Given the description of an element on the screen output the (x, y) to click on. 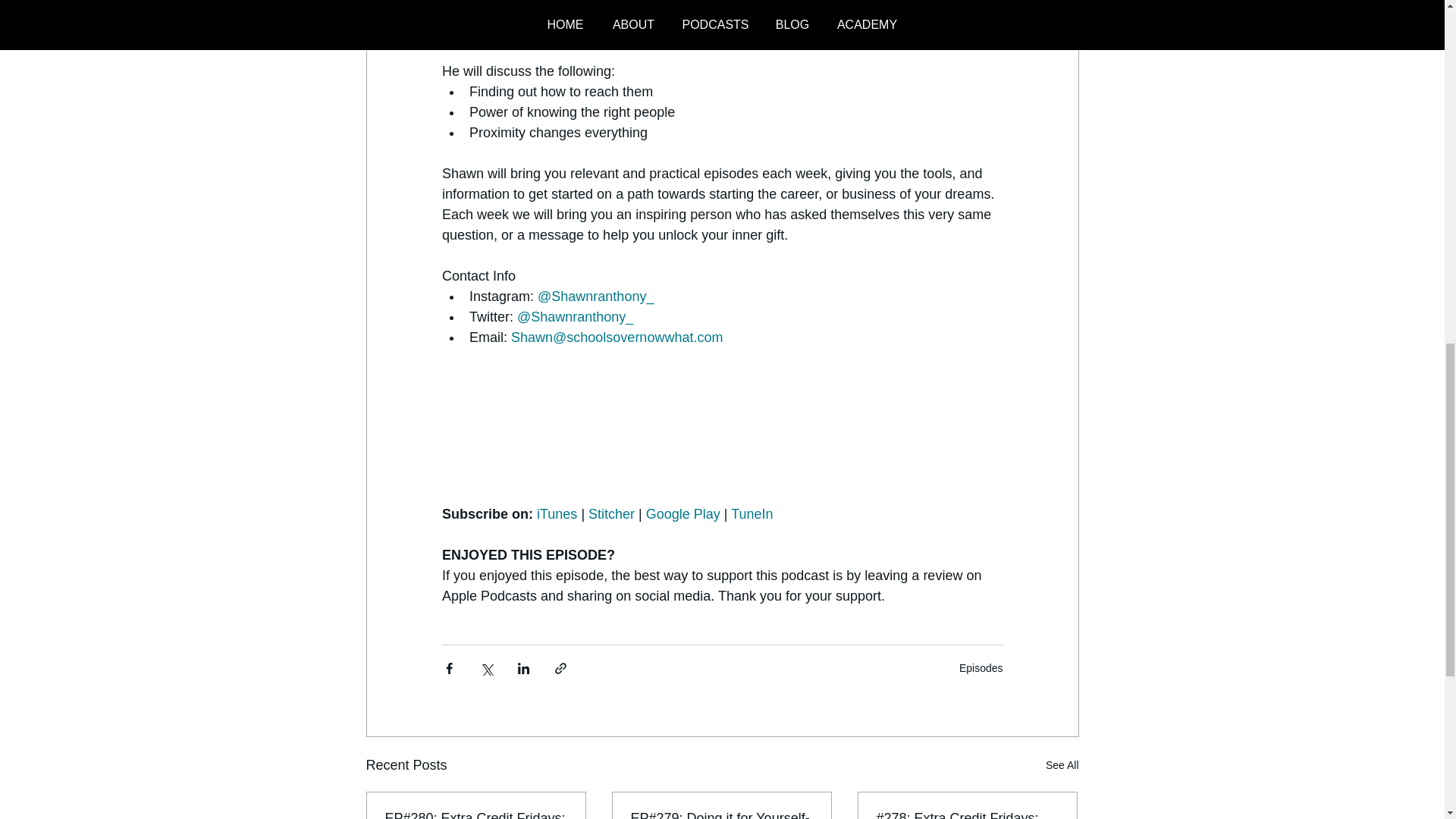
TuneIn (751, 513)
See All (1061, 765)
Episodes (981, 666)
iTunes (556, 513)
Stitcher (611, 513)
Google Play (682, 513)
